Given the description of an element on the screen output the (x, y) to click on. 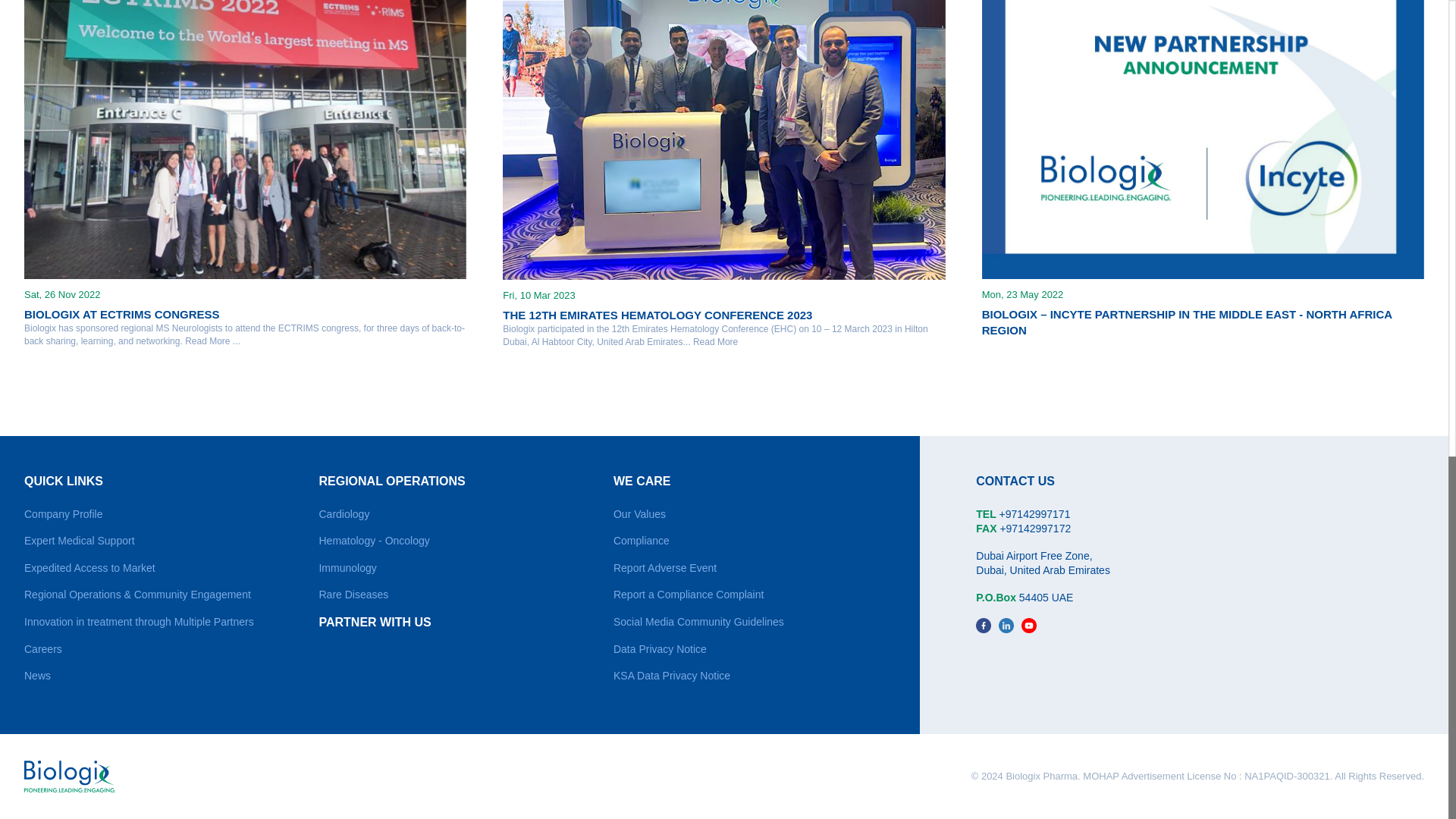
Company Profile (63, 513)
